Given the description of an element on the screen output the (x, y) to click on. 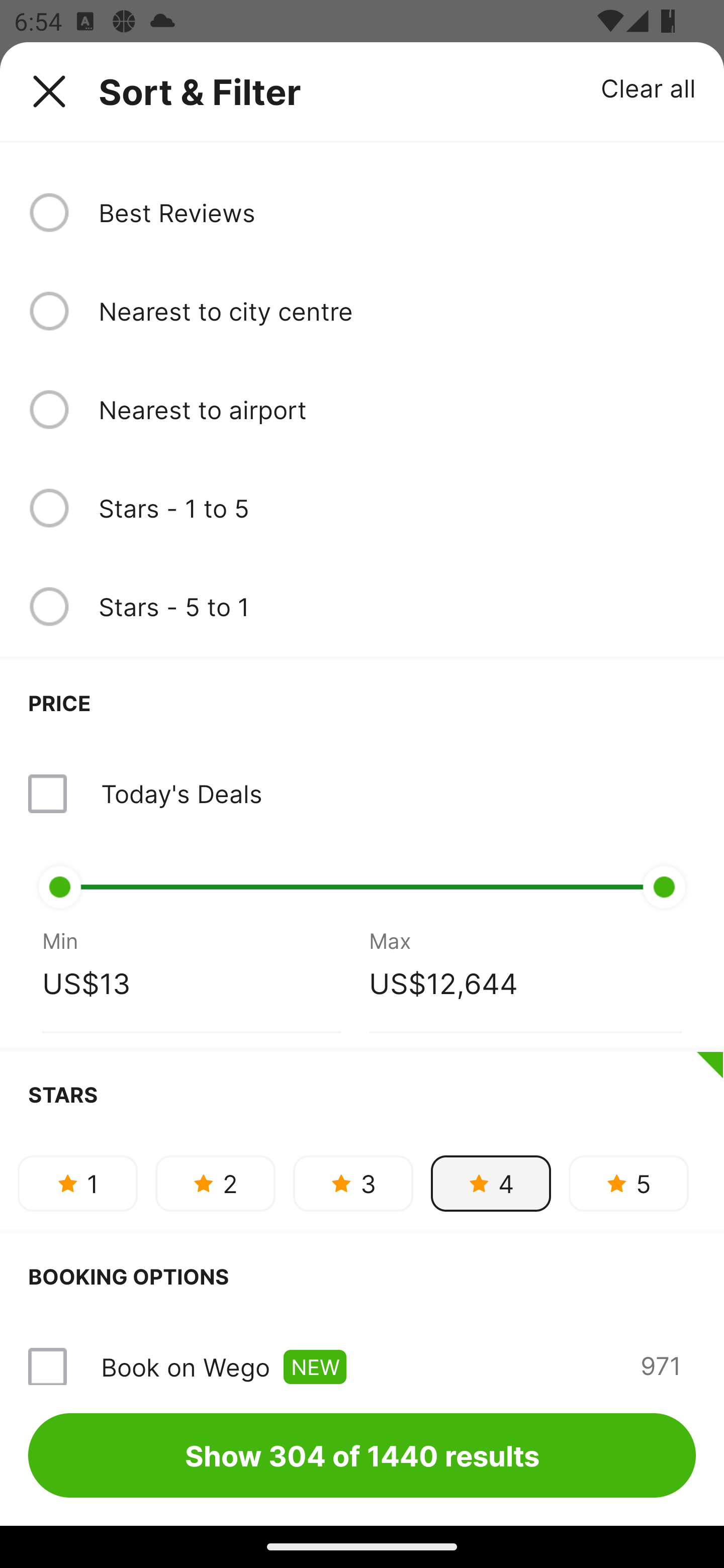
Clear all (648, 87)
Best Reviews (396, 212)
Nearest to city centre (396, 311)
Nearest to airport (396, 409)
Stars - 1 to 5 (396, 507)
Stars - 5 to 1 (396, 606)
Today's Deals (362, 794)
Today's Deals (181, 793)
1 (77, 1183)
2 (214, 1183)
3 (352, 1183)
4 (491, 1183)
5 (627, 1183)
Book on Wego NEW 971 (362, 1352)
Book on Wego (184, 1367)
Show 304 of 1440 results (361, 1454)
